Given the description of an element on the screen output the (x, y) to click on. 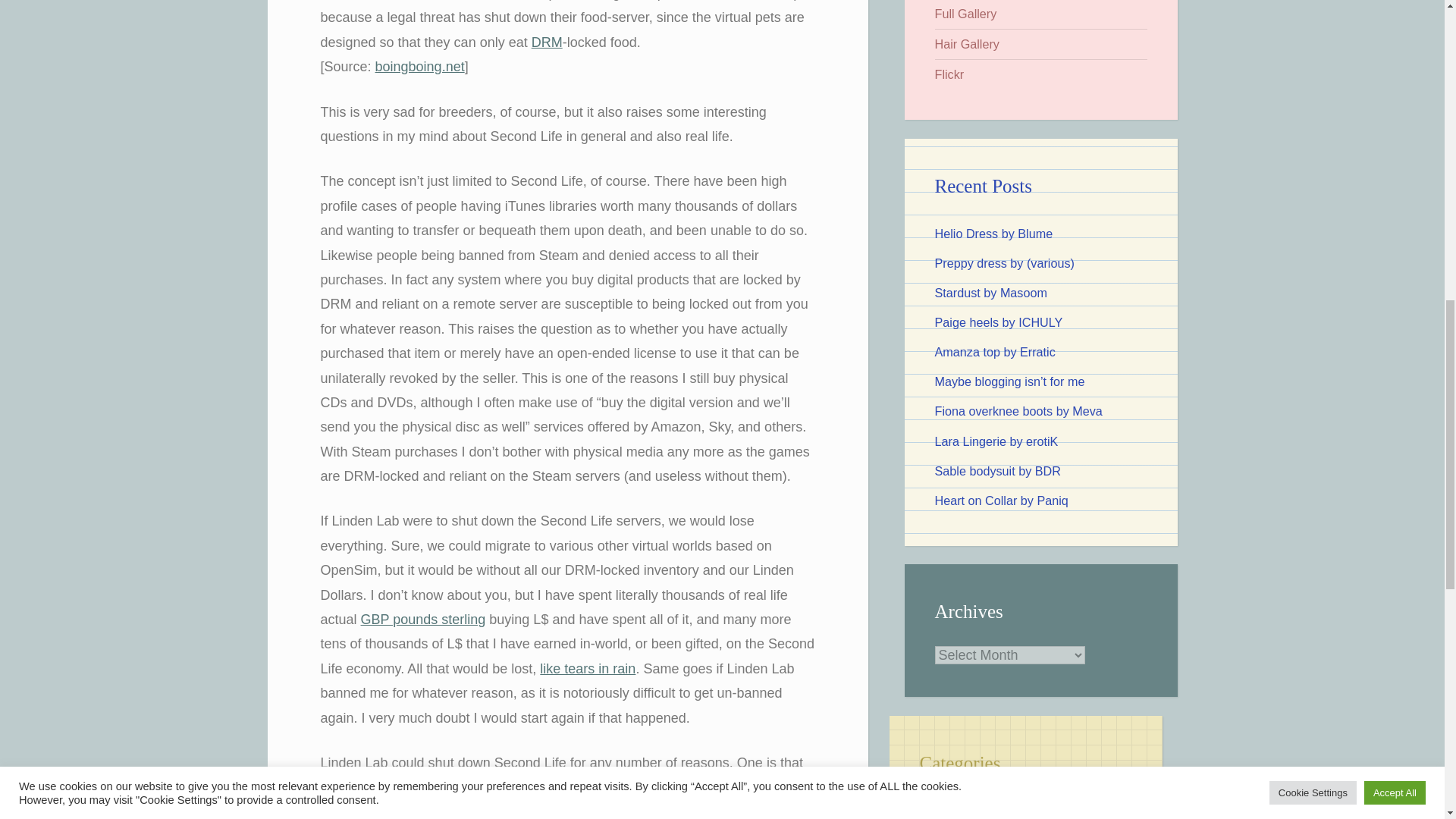
Paige heels by ICHULY (998, 322)
Fiona overknee boots by Meva (1018, 410)
Amanza top by Erratic (994, 351)
Flickr (948, 74)
Hair Gallery (966, 43)
Helio Dress by Blume (993, 233)
Full Gallery (964, 13)
DRM (546, 42)
Lara Lingerie by erotiK (996, 440)
like tears in rain (587, 668)
Stardust by Masoom (990, 292)
boingboing.net (419, 66)
GBP pounds sterling (423, 619)
